Given the description of an element on the screen output the (x, y) to click on. 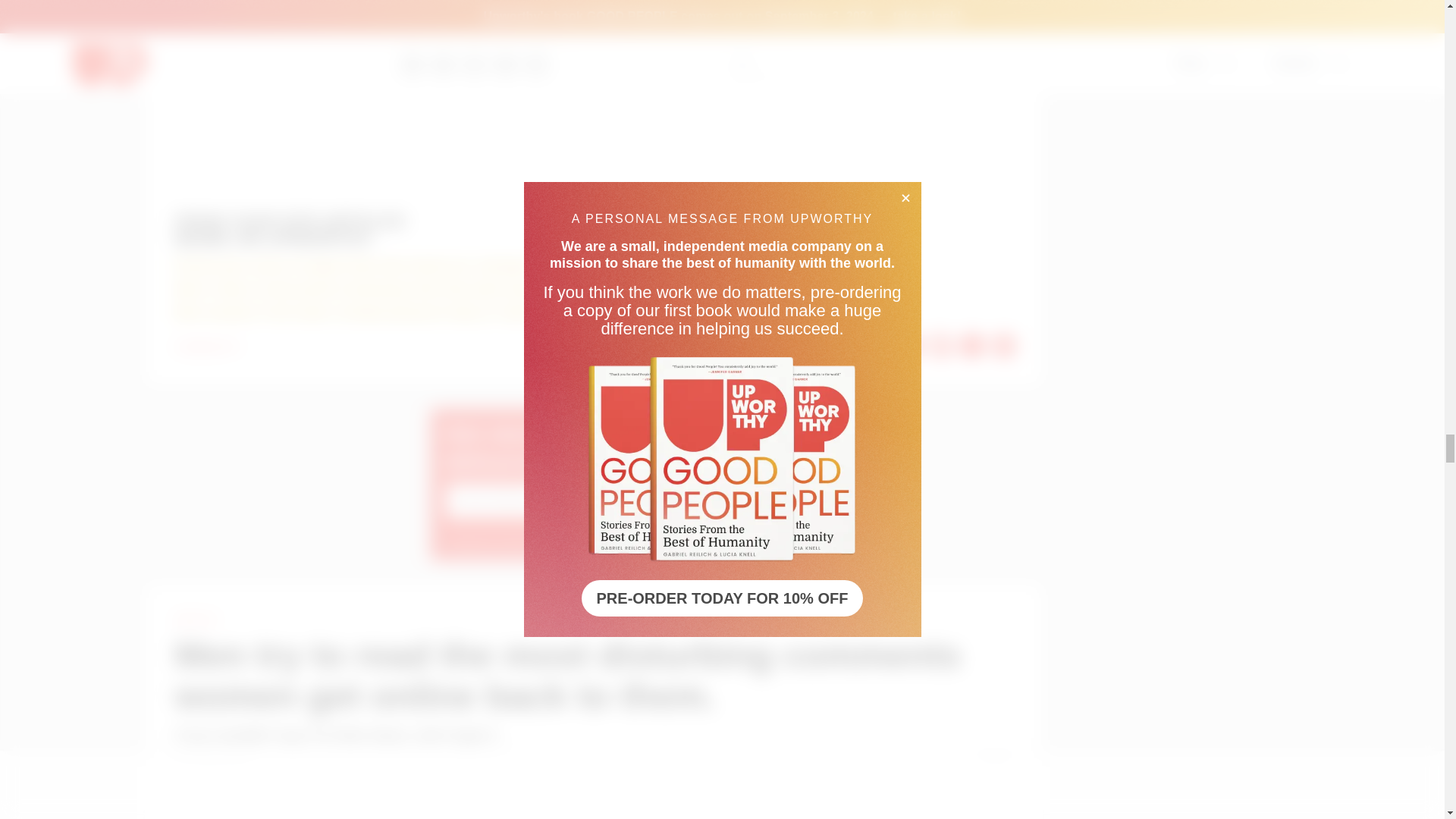
Copy this link to clipboard (1003, 345)
